Given the description of an element on the screen output the (x, y) to click on. 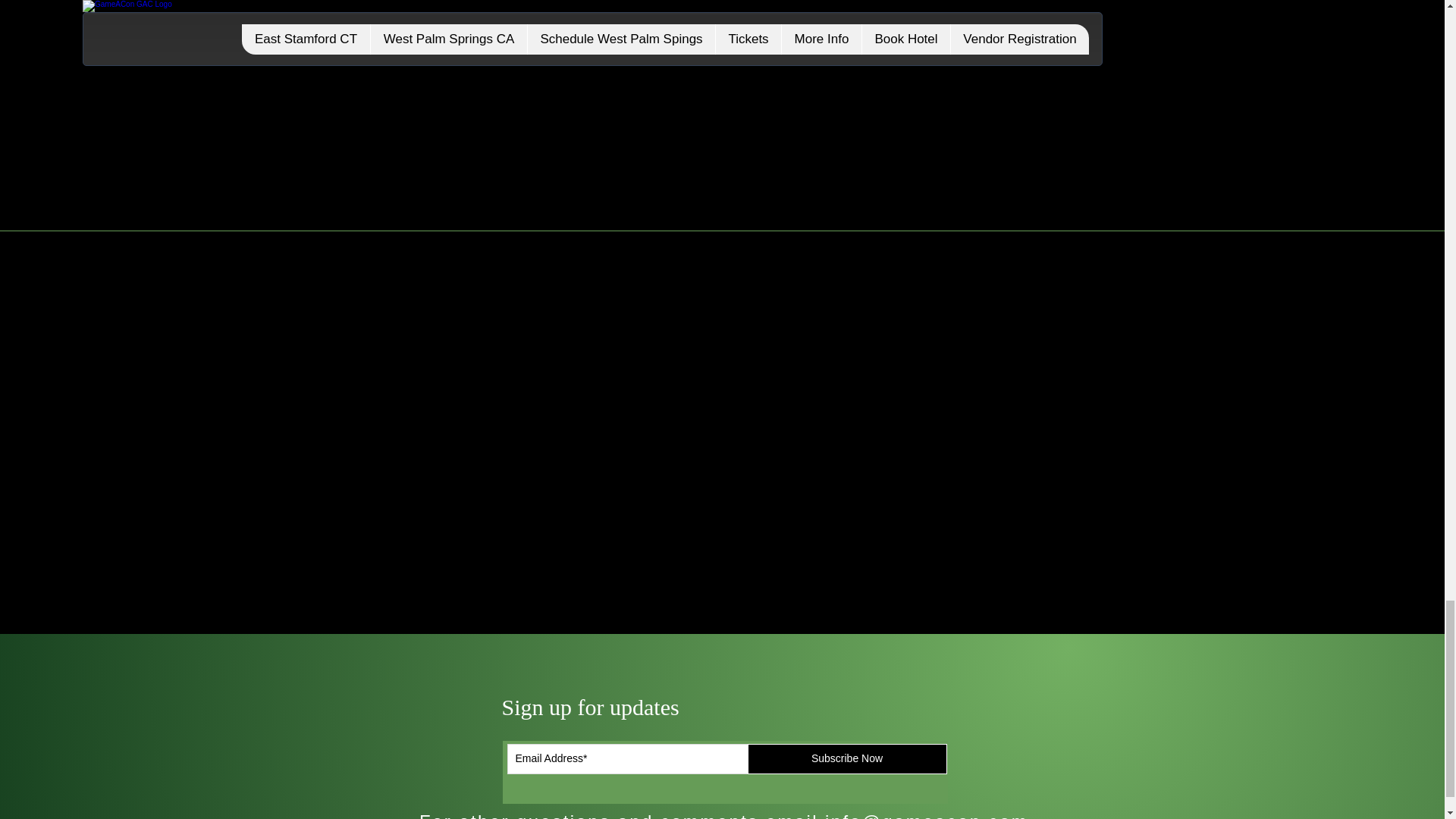
Subscribe Now (847, 758)
